Given the description of an element on the screen output the (x, y) to click on. 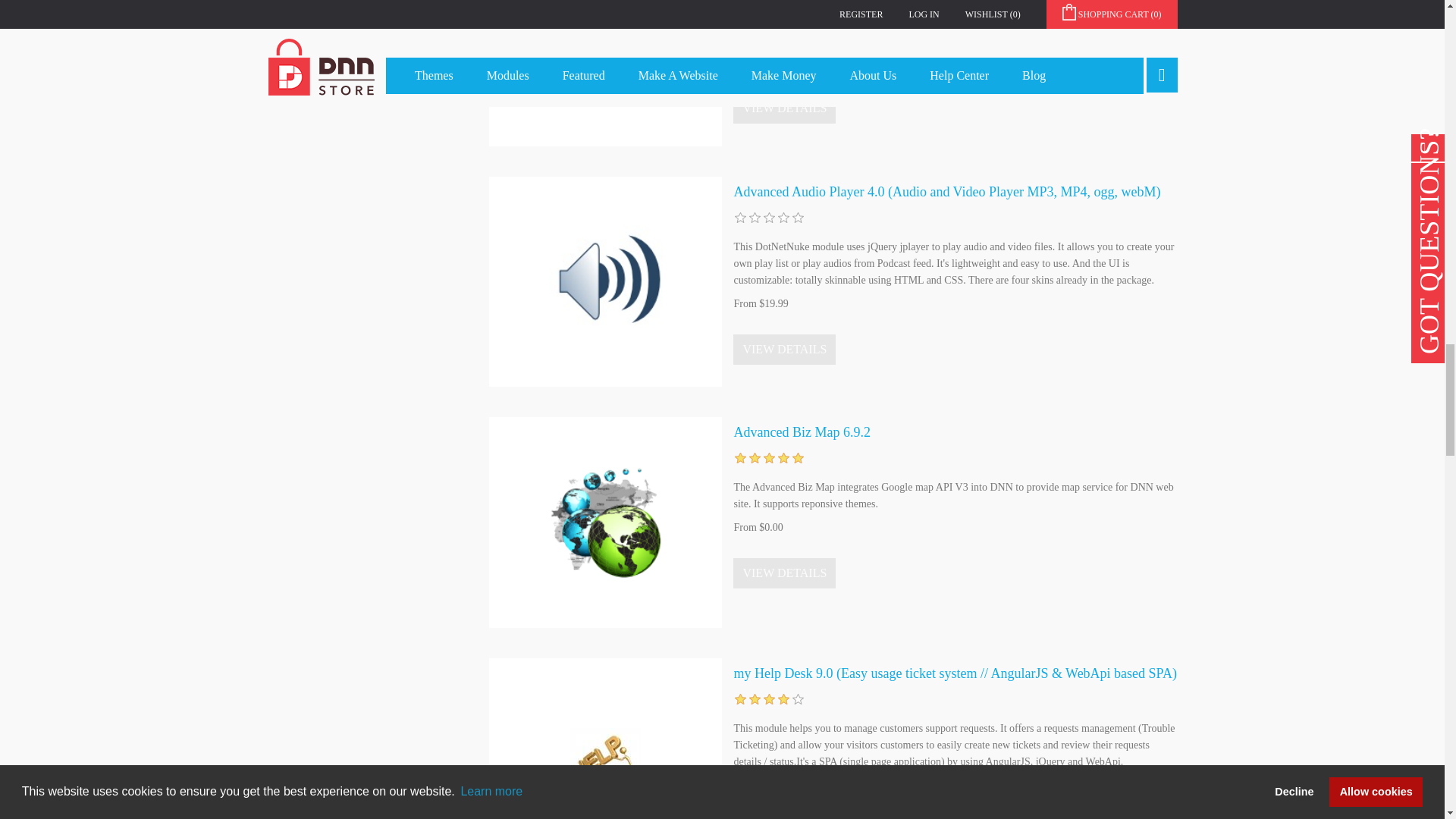
View Details (784, 572)
View Details (784, 817)
View Details (784, 349)
View Details (784, 108)
